Given the description of an element on the screen output the (x, y) to click on. 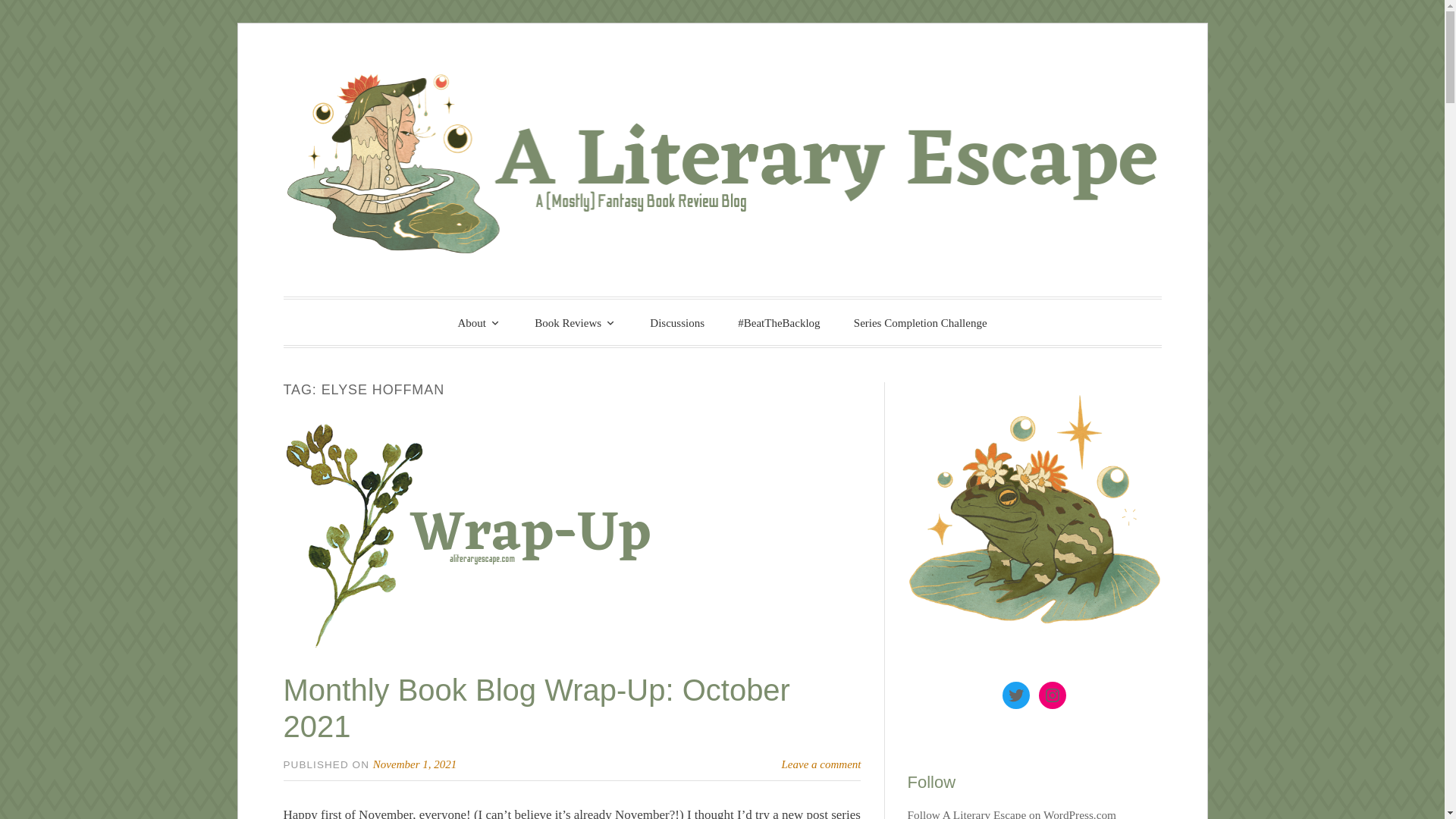
November 1, 2021 (414, 764)
About (479, 322)
Series Completion Challenge (920, 323)
A Literary Escape (506, 320)
Leave a comment (821, 764)
Monthly Book Blog Wrap-Up: October 2021 (536, 707)
Book Reviews (575, 322)
Discussions (676, 323)
